Given the description of an element on the screen output the (x, y) to click on. 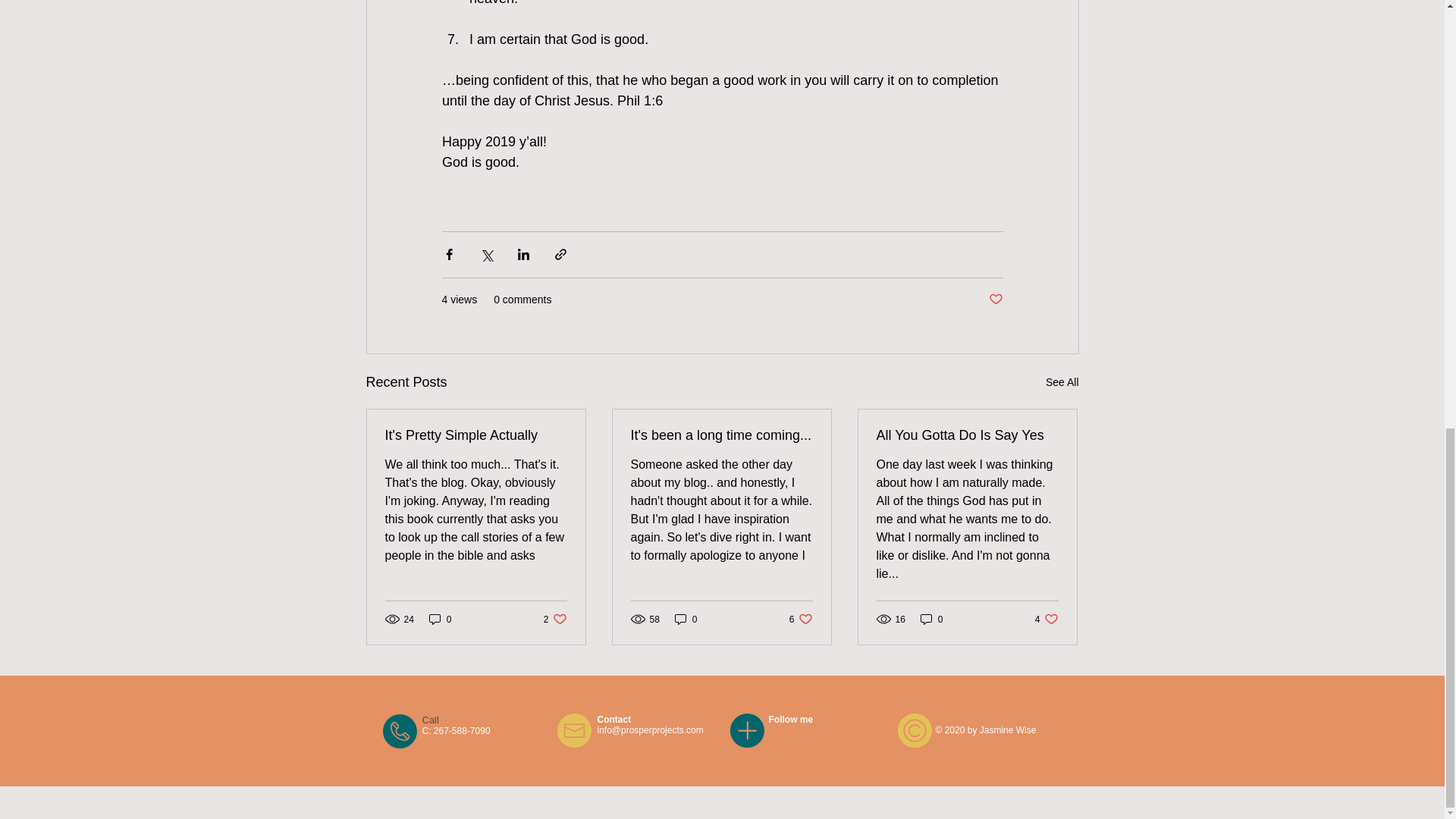
Post not marked as liked (1046, 618)
0 (995, 299)
0 (800, 618)
All You Gotta Do Is Say Yes (931, 618)
It's Pretty Simple Actually (440, 618)
0 (967, 435)
It's been a long time coming... (476, 435)
See All (685, 618)
